Given the description of an element on the screen output the (x, y) to click on. 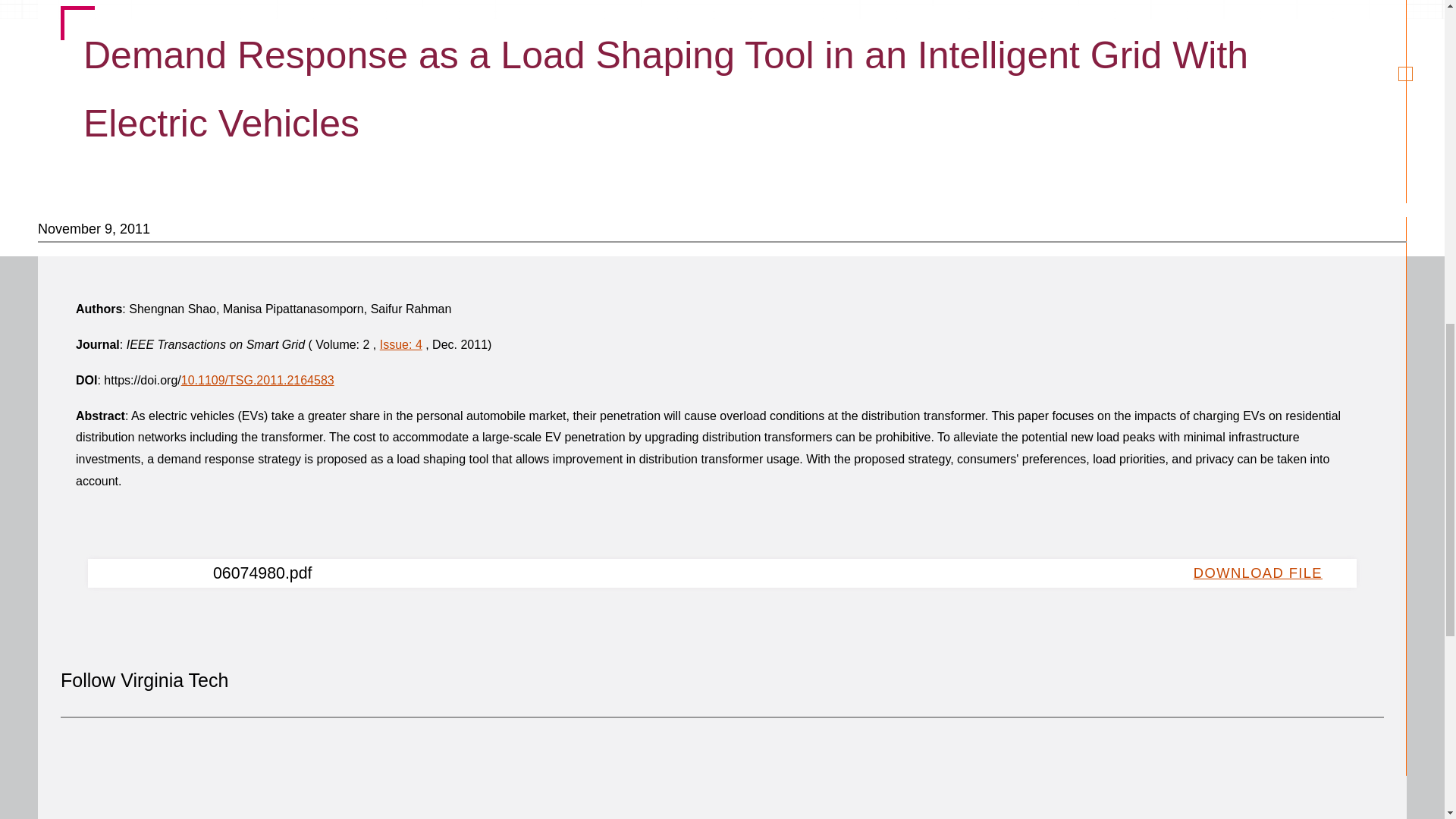
Download  (1263, 572)
